Given the description of an element on the screen output the (x, y) to click on. 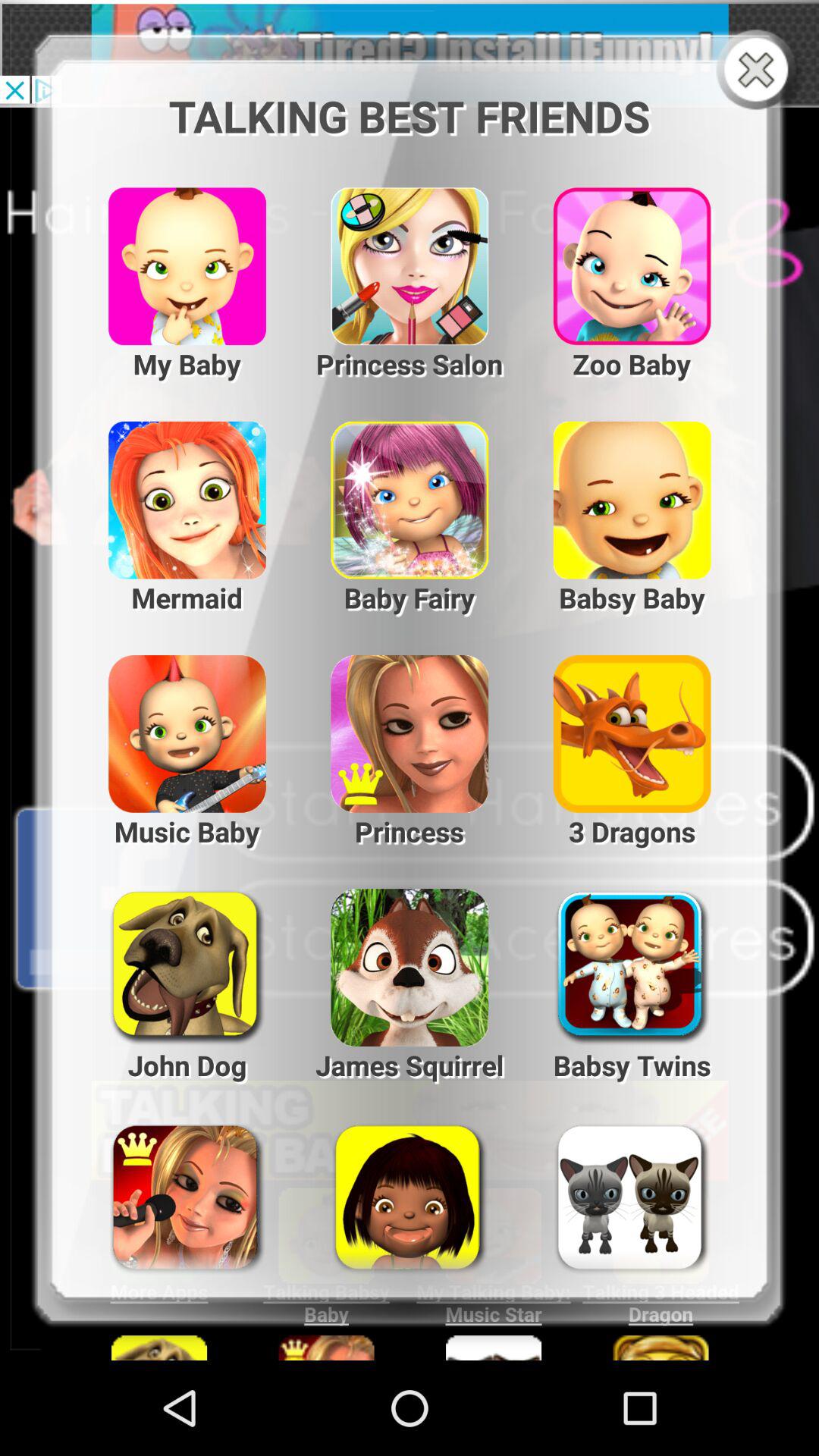
close menu (759, 71)
